Given the description of an element on the screen output the (x, y) to click on. 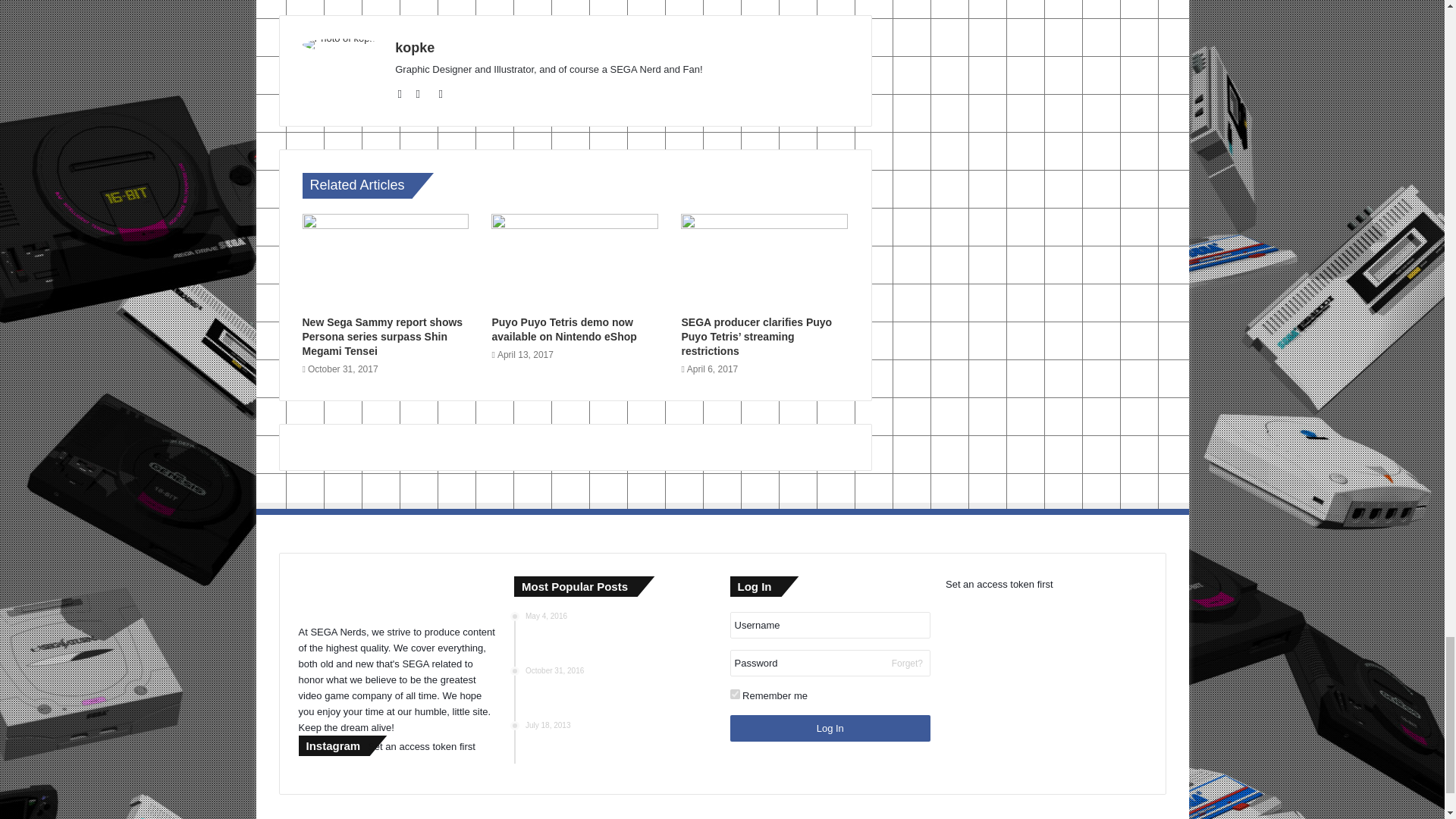
Password (829, 663)
Username (829, 624)
forever (734, 694)
